Given the description of an element on the screen output the (x, y) to click on. 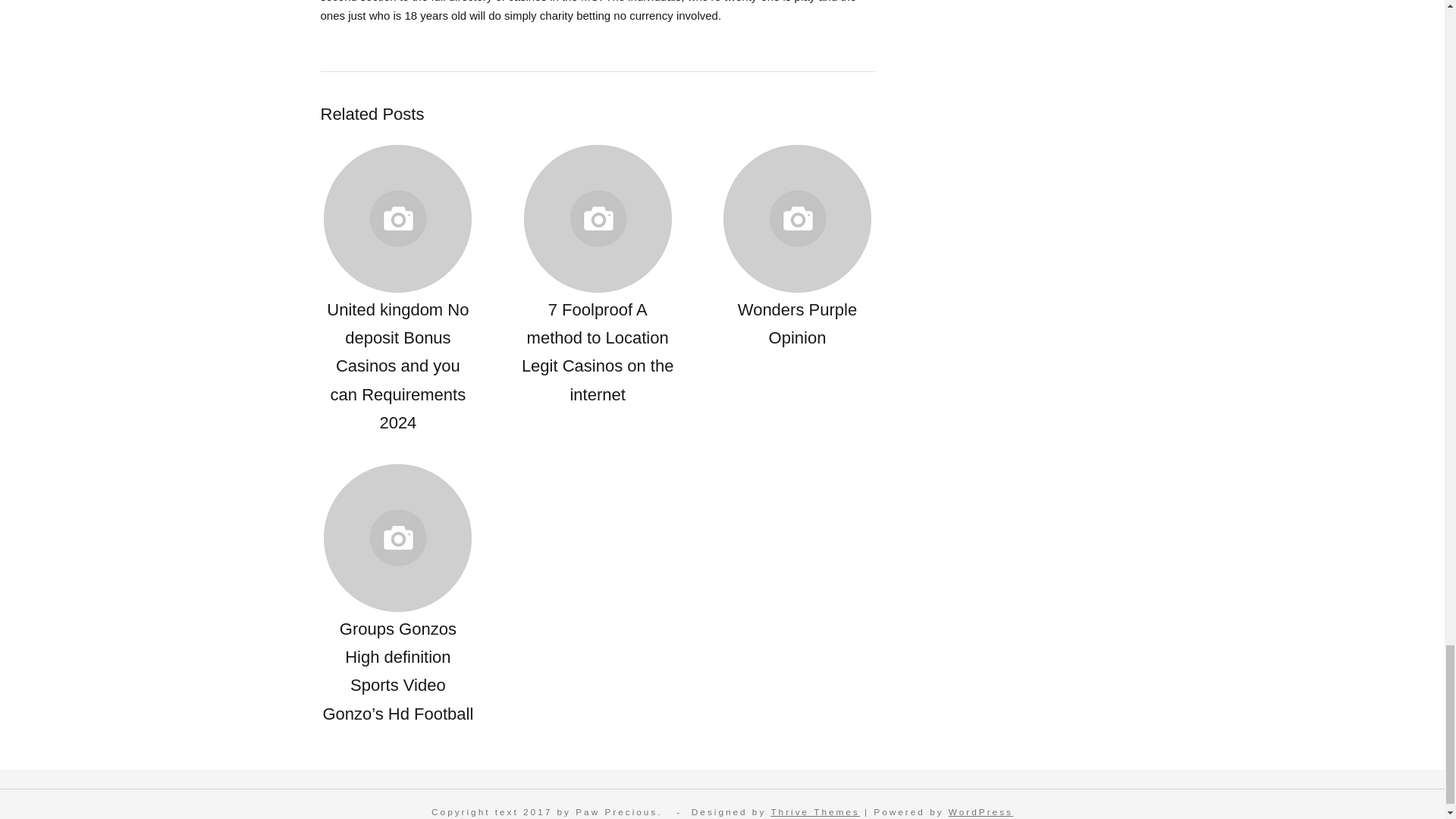
Thrive Themes (814, 811)
WordPress (981, 811)
